Given the description of an element on the screen output the (x, y) to click on. 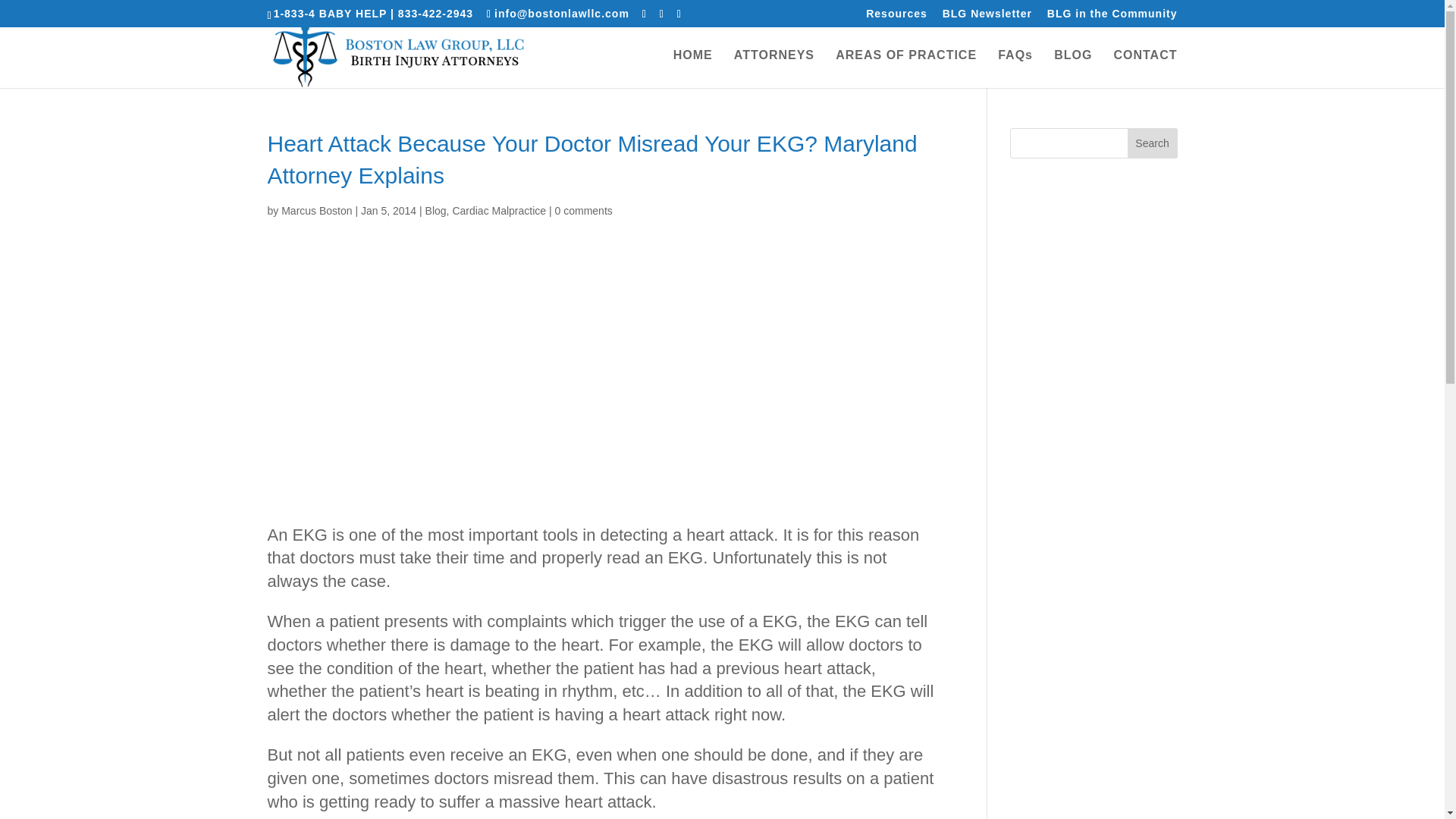
AREAS OF PRACTICE (905, 68)
Search (1151, 142)
BLG in the Community (1111, 16)
ATTORNEYS (773, 68)
Blog (435, 210)
BLG Newsletter (987, 16)
Search (1151, 142)
HOME (692, 68)
Cardiac Malpractice (498, 210)
Marcus Boston (316, 210)
0 comments (583, 210)
BLOG (1073, 68)
Resources (896, 16)
CONTACT (1144, 68)
FAQs (1014, 68)
